Given the description of an element on the screen output the (x, y) to click on. 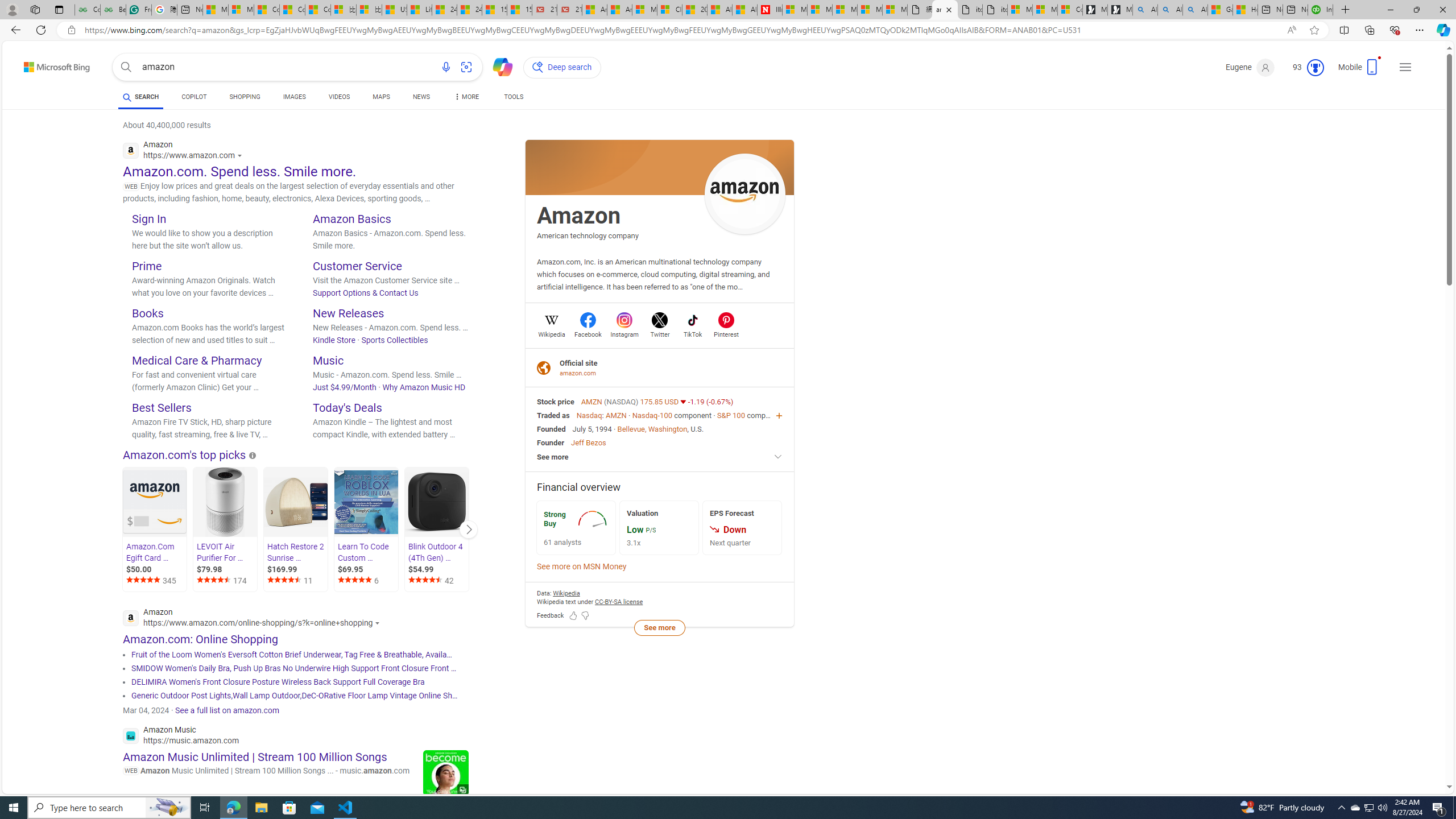
MORE (465, 98)
Best SSL Certificates Provider in India - GeeksforGeeks (113, 9)
Valuation Low P/S 3.1x (659, 527)
$169.99 (296, 569)
To get missing image descriptions, open the context menu. (593, 518)
Settings and quick links (1404, 67)
Class: sp-ofsite (543, 367)
Amazon.com: Online Shopping (200, 639)
